Given the description of an element on the screen output the (x, y) to click on. 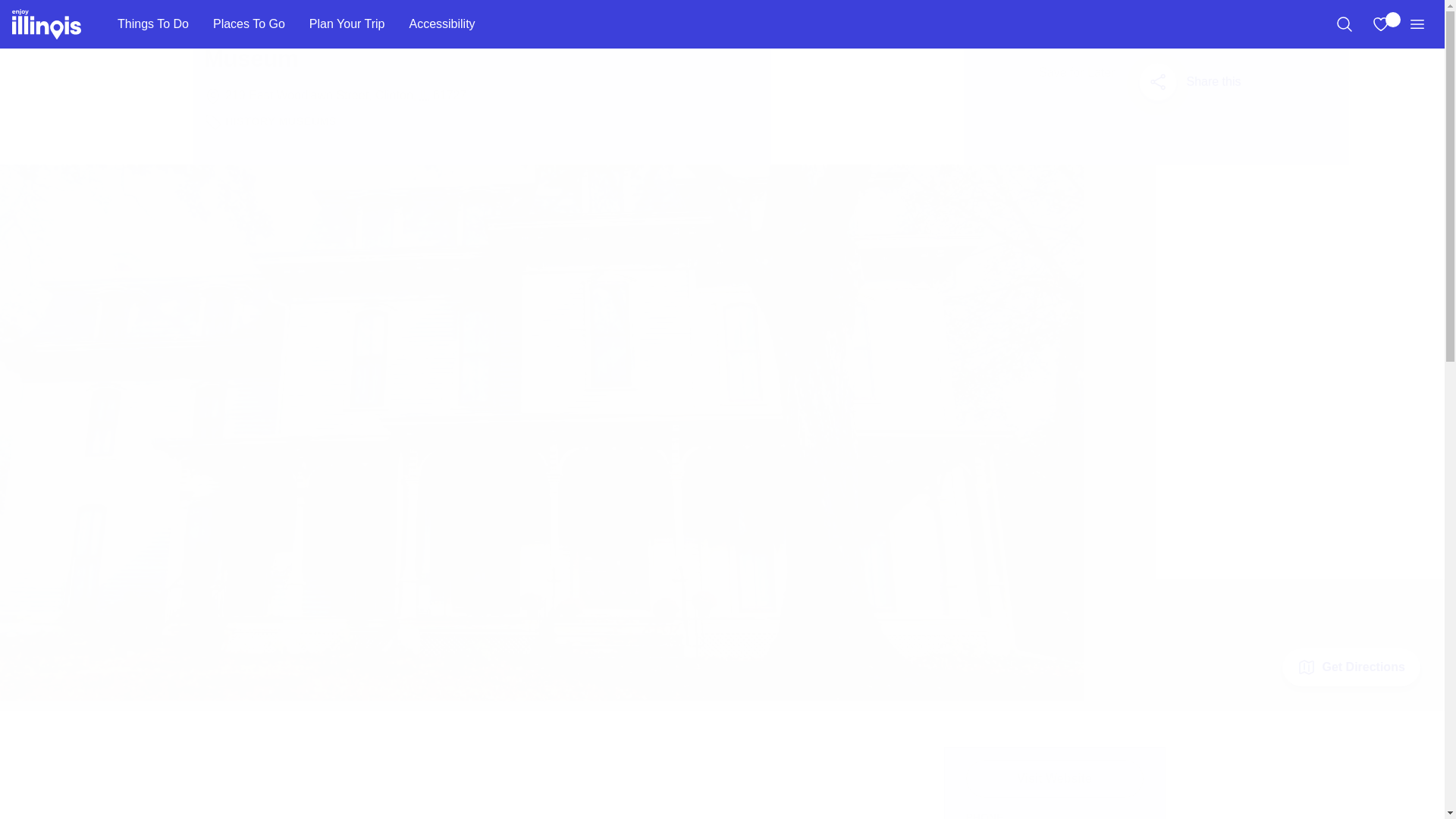
Things To Do (152, 24)
Plan Your Trip (347, 24)
Menu (1417, 24)
View My Favorites (1380, 24)
Search the Site (1344, 24)
Places To Go (248, 24)
Accessibility (441, 24)
